Given the description of an element on the screen output the (x, y) to click on. 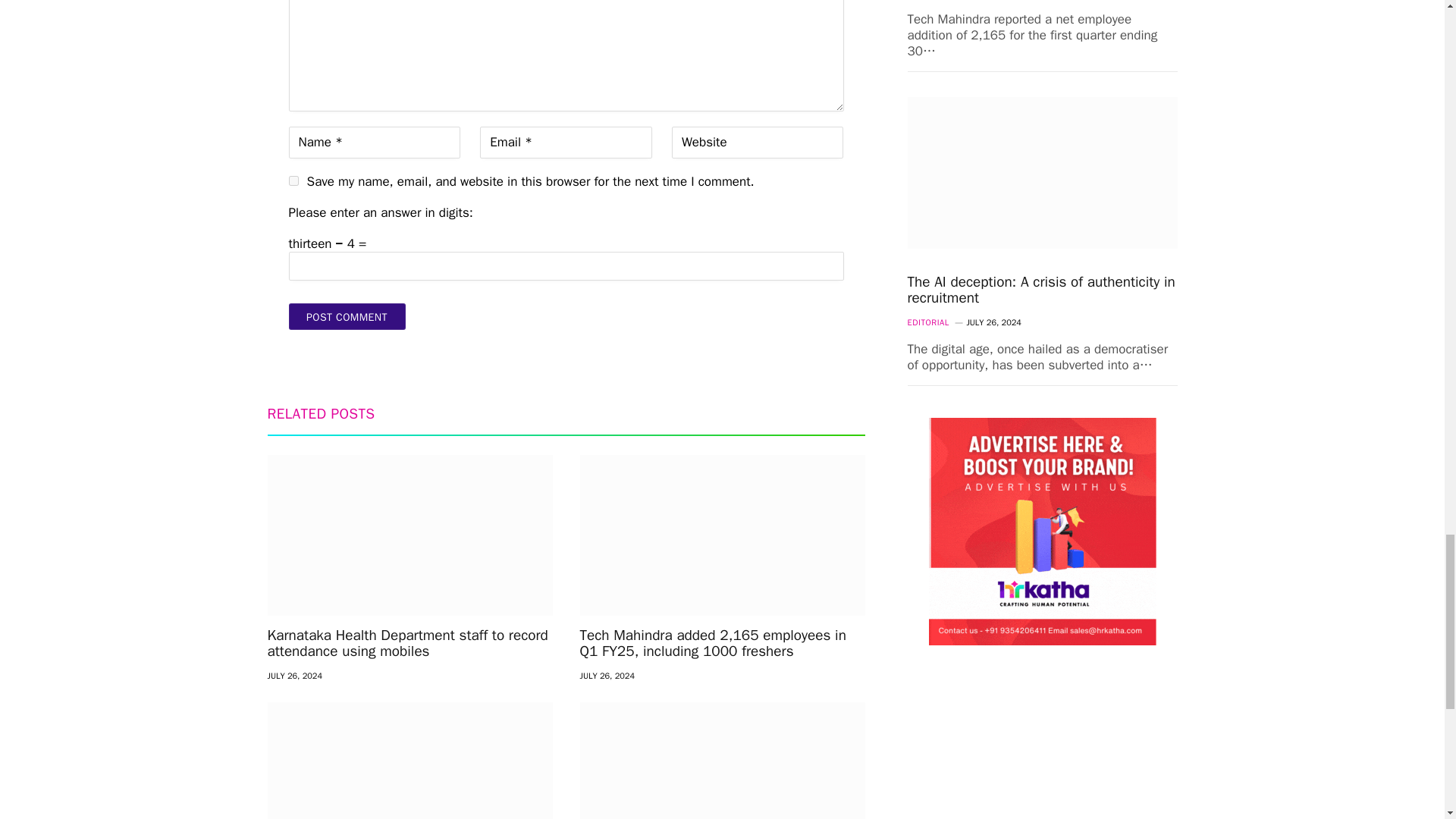
Post Comment (346, 316)
yes (293, 180)
